Given the description of an element on the screen output the (x, y) to click on. 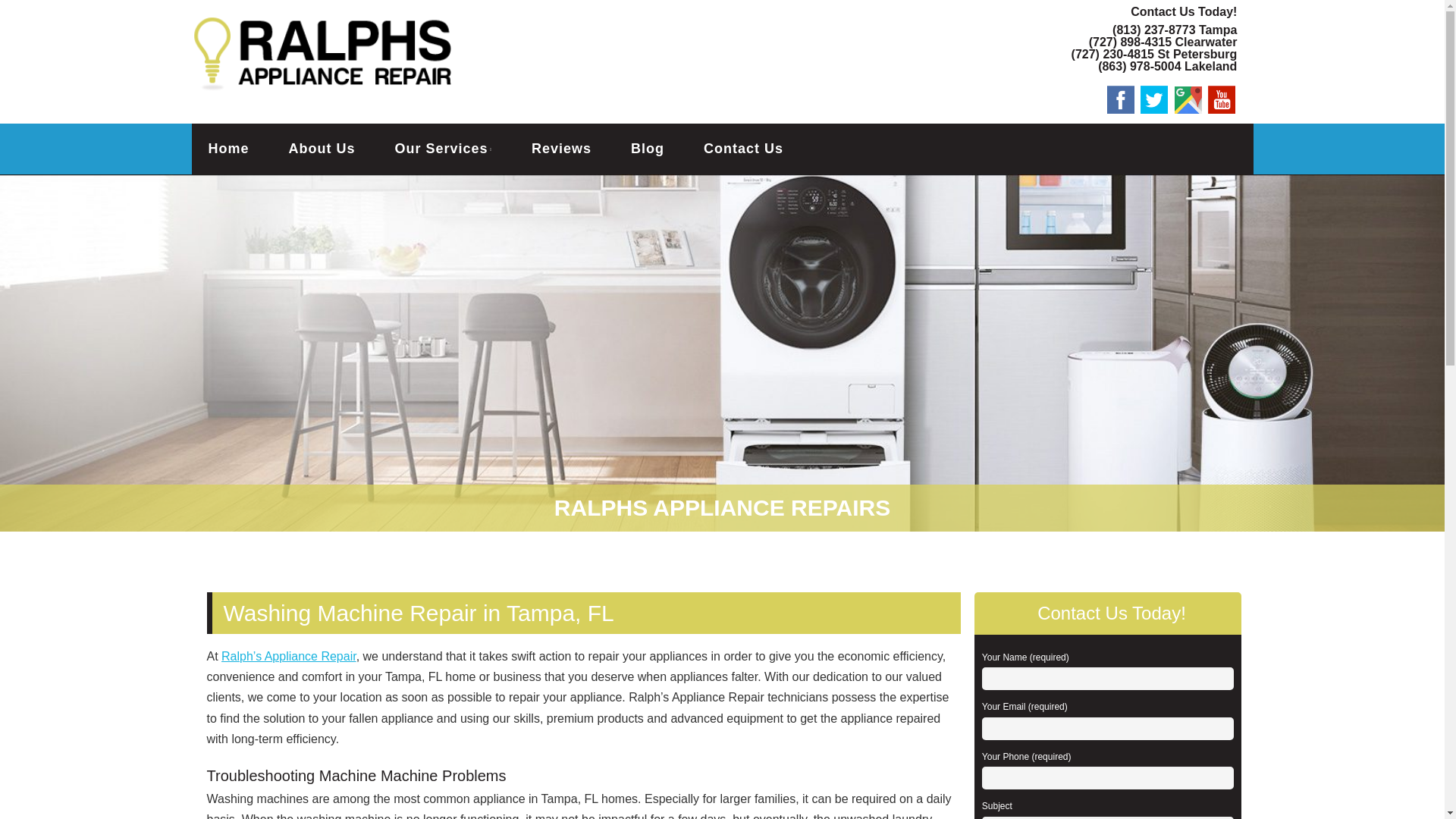
RALPHS APPLIANCE REPAIRS (426, 35)
About Us (321, 148)
Ralphs Appliance Repairs (426, 35)
Our Services (443, 148)
Blog (647, 148)
Reviews (561, 148)
Contact Us (742, 148)
Home (228, 148)
